Given the description of an element on the screen output the (x, y) to click on. 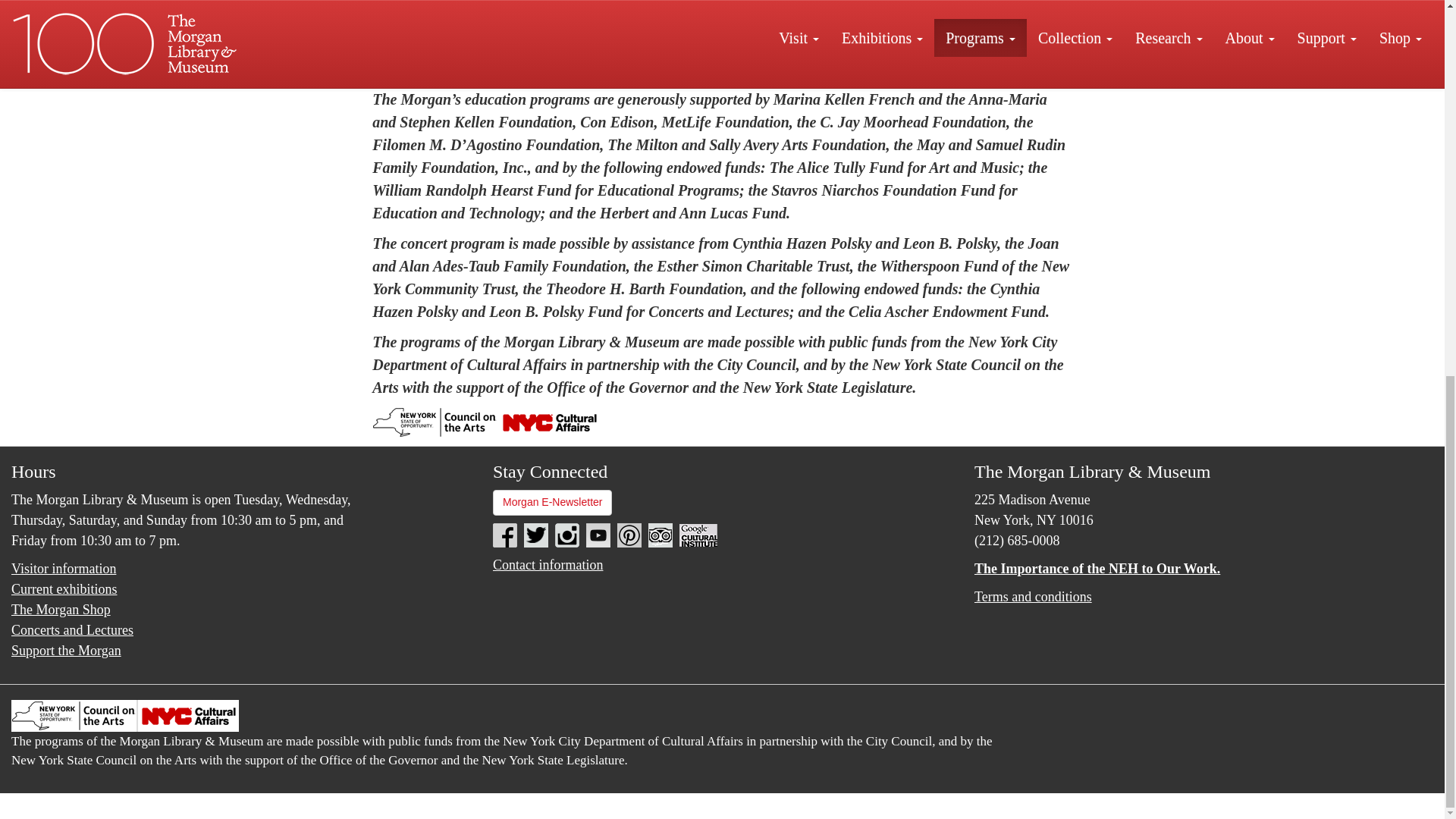
Google conversion frame (75, 803)
